Given the description of an element on the screen output the (x, y) to click on. 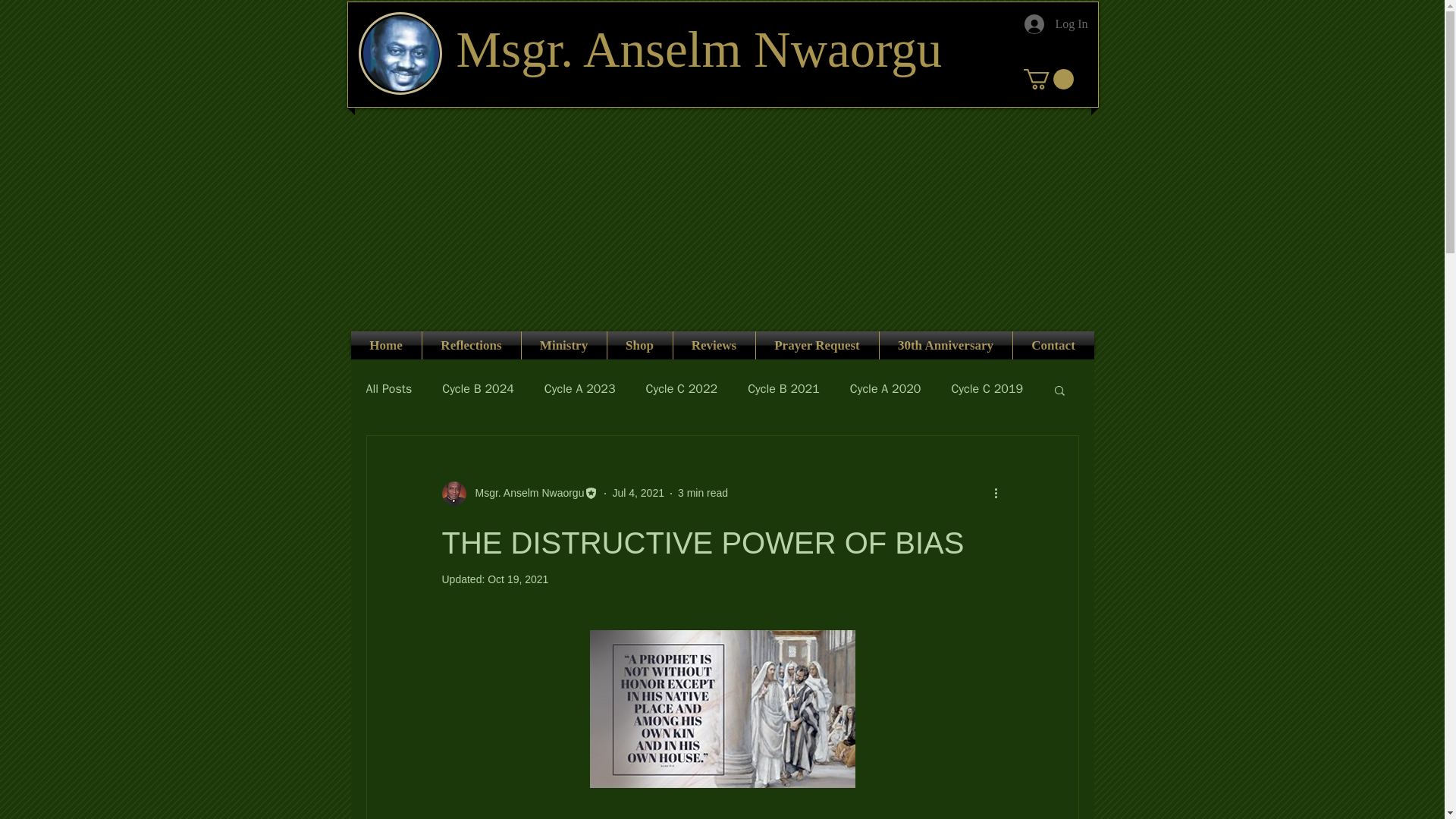
All Posts (388, 389)
Msgr. Anselm Nwaorgu (519, 493)
Prayer Request (816, 345)
Ministry (564, 345)
Home (385, 345)
Reviews (713, 345)
Msgr. Anselm Nwaorgu (524, 493)
Cycle A 2023 (579, 389)
Shop (639, 345)
Contact (1053, 345)
